Given the description of an element on the screen output the (x, y) to click on. 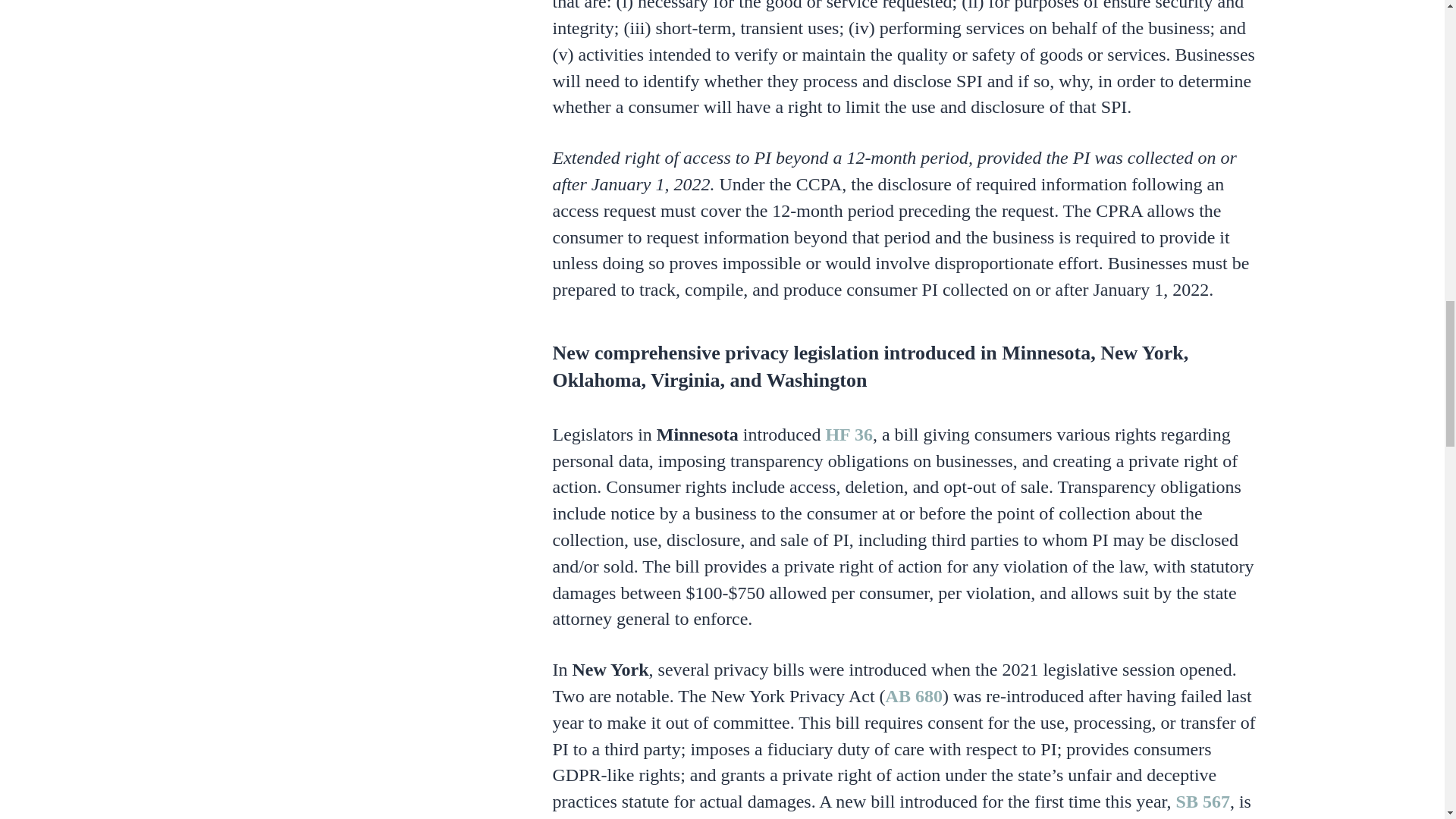
HF 36 (848, 434)
SB 567 (1203, 801)
AB 680 (913, 695)
